Given the description of an element on the screen output the (x, y) to click on. 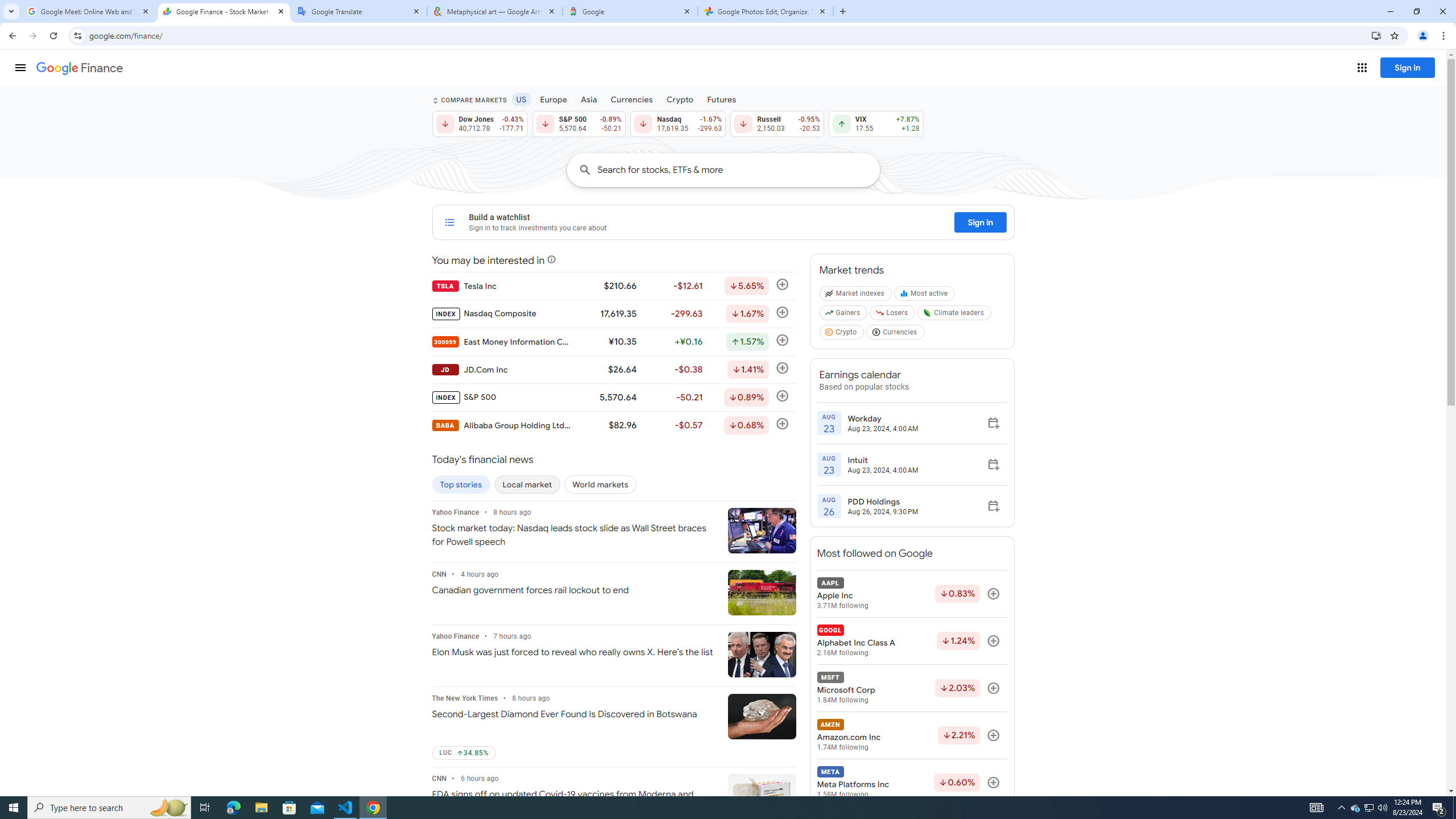
Follow (993, 782)
Install Google Finance (1376, 35)
Google (630, 11)
Market indexes (855, 295)
US (521, 99)
Top stories (460, 484)
